Given the description of an element on the screen output the (x, y) to click on. 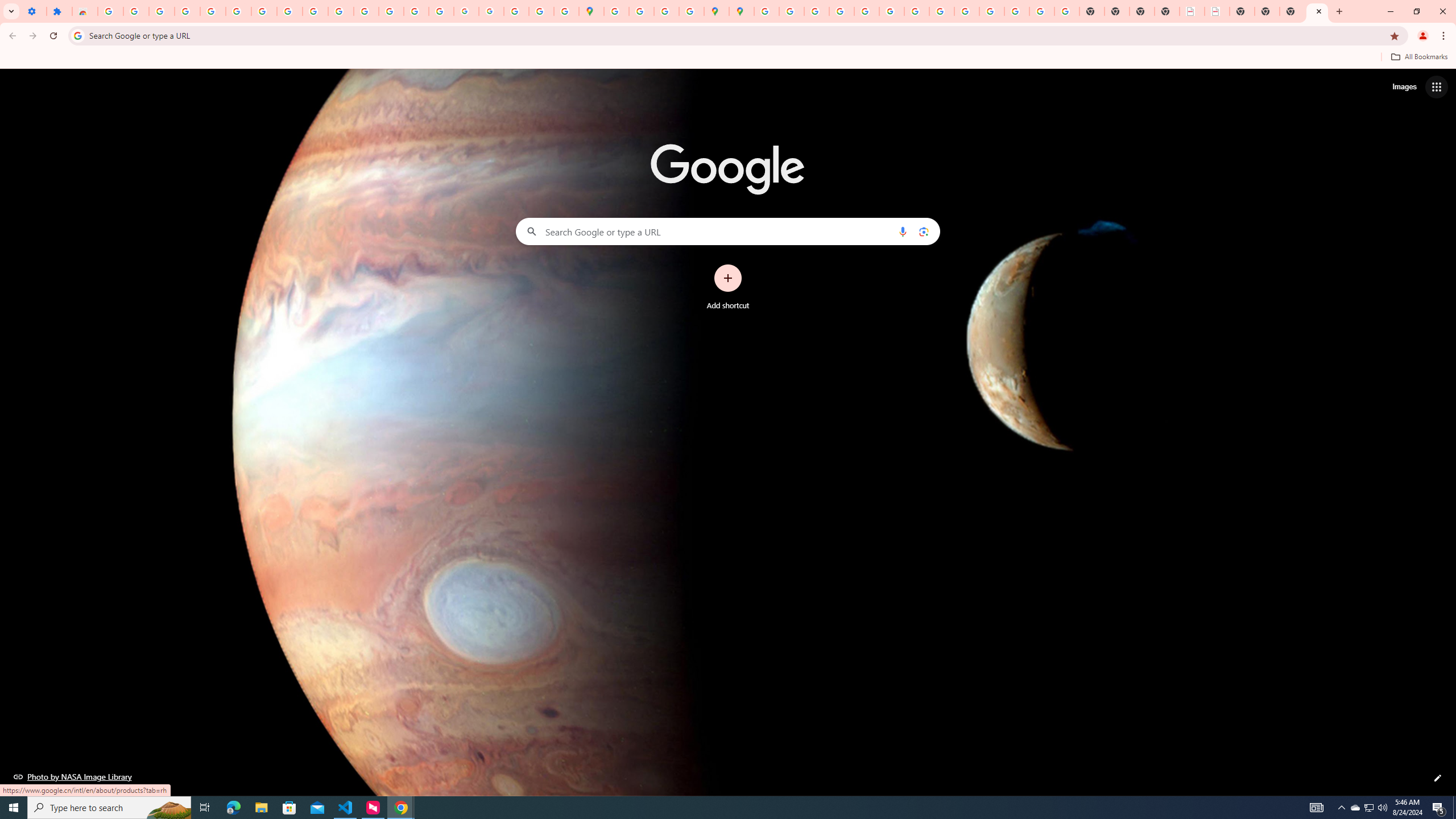
BAE Systems Brasil | BAE Systems (1216, 11)
Privacy Help Center - Policies Help (816, 11)
Sign in - Google Accounts (110, 11)
Privacy Help Center - Policies Help (841, 11)
Sign in - Google Accounts (238, 11)
